Given the description of an element on the screen output the (x, y) to click on. 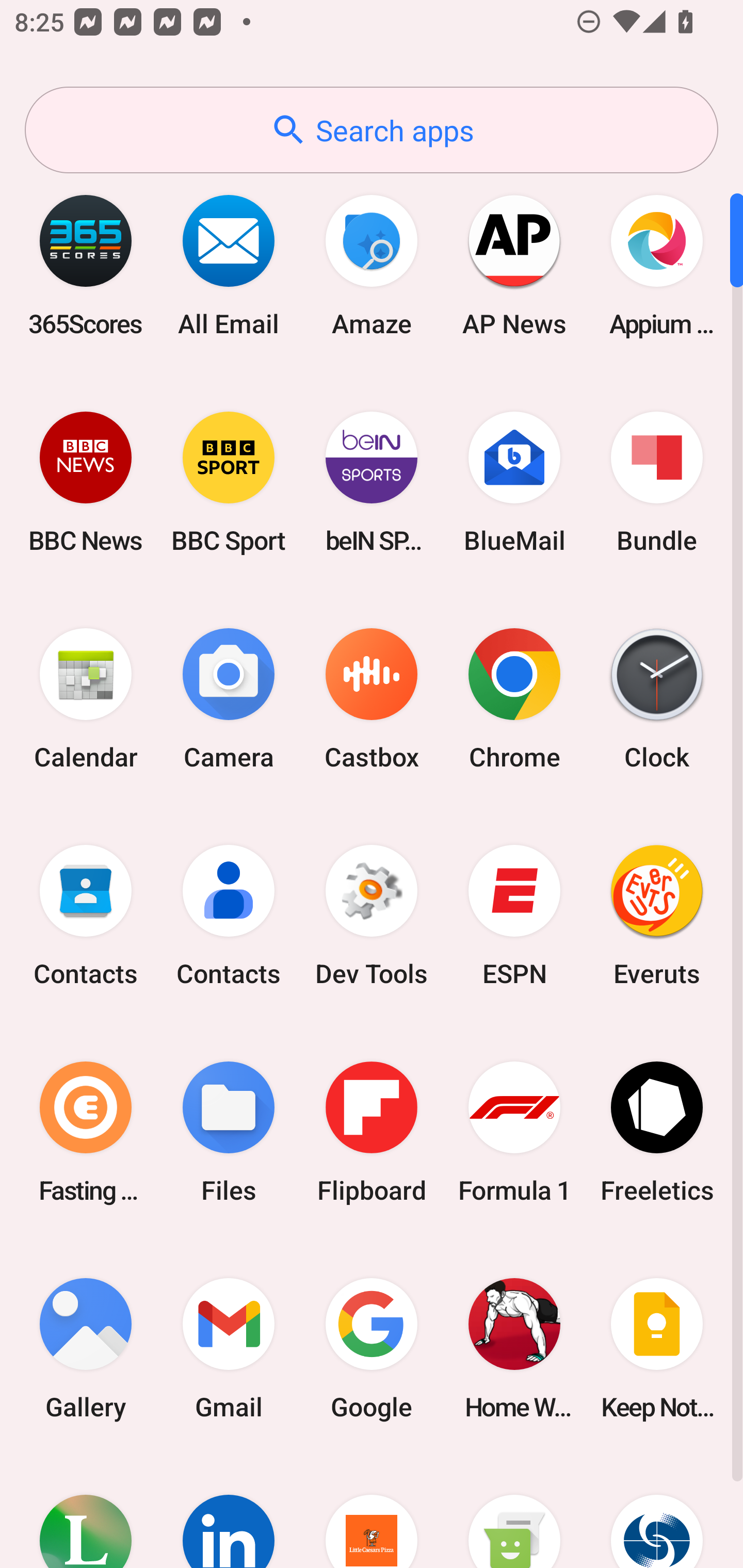
  Search apps (371, 130)
365Scores (85, 264)
All Email (228, 264)
Amaze (371, 264)
AP News (514, 264)
Appium Settings (656, 264)
BBC News (85, 482)
BBC Sport (228, 482)
beIN SPORTS (371, 482)
BlueMail (514, 482)
Bundle (656, 482)
Calendar (85, 699)
Camera (228, 699)
Castbox (371, 699)
Chrome (514, 699)
Clock (656, 699)
Contacts (85, 915)
Contacts (228, 915)
Dev Tools (371, 915)
ESPN (514, 915)
Everuts (656, 915)
Fasting Coach (85, 1131)
Files (228, 1131)
Flipboard (371, 1131)
Formula 1 (514, 1131)
Freeletics (656, 1131)
Gallery (85, 1348)
Gmail (228, 1348)
Google (371, 1348)
Home Workout (514, 1348)
Keep Notes (656, 1348)
